Given the description of an element on the screen output the (x, y) to click on. 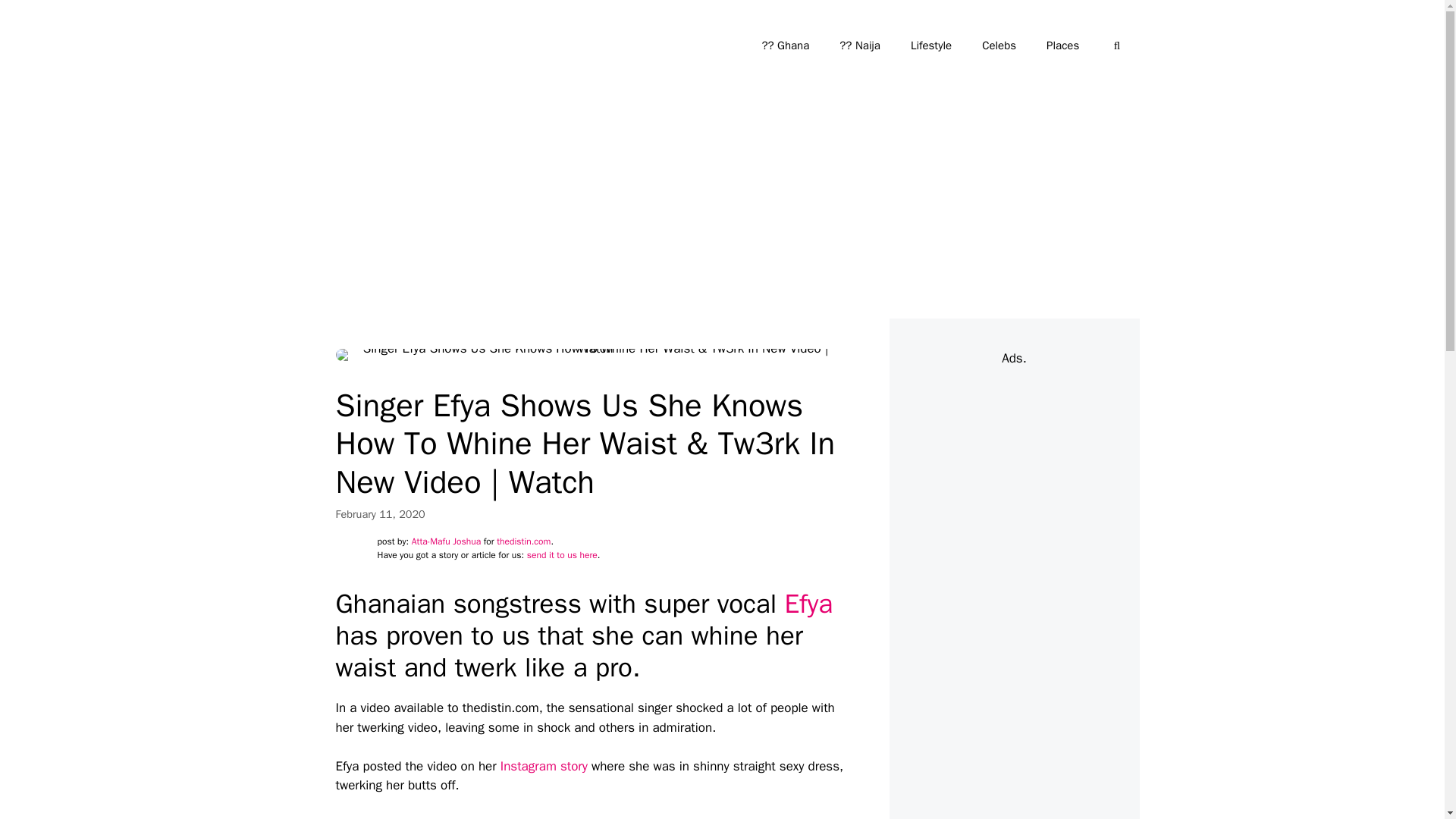
?? Naija (859, 44)
Celebs (998, 44)
Thedistin (365, 45)
Lifestyle (930, 44)
thedistin.com (523, 541)
Search (35, 18)
Instagram story (544, 765)
Atta-Mafu Joshua (446, 541)
?? Ghana (784, 44)
Thedistin (361, 45)
Places (1062, 44)
send it to us here (561, 554)
Efya (808, 603)
